Given the description of an element on the screen output the (x, y) to click on. 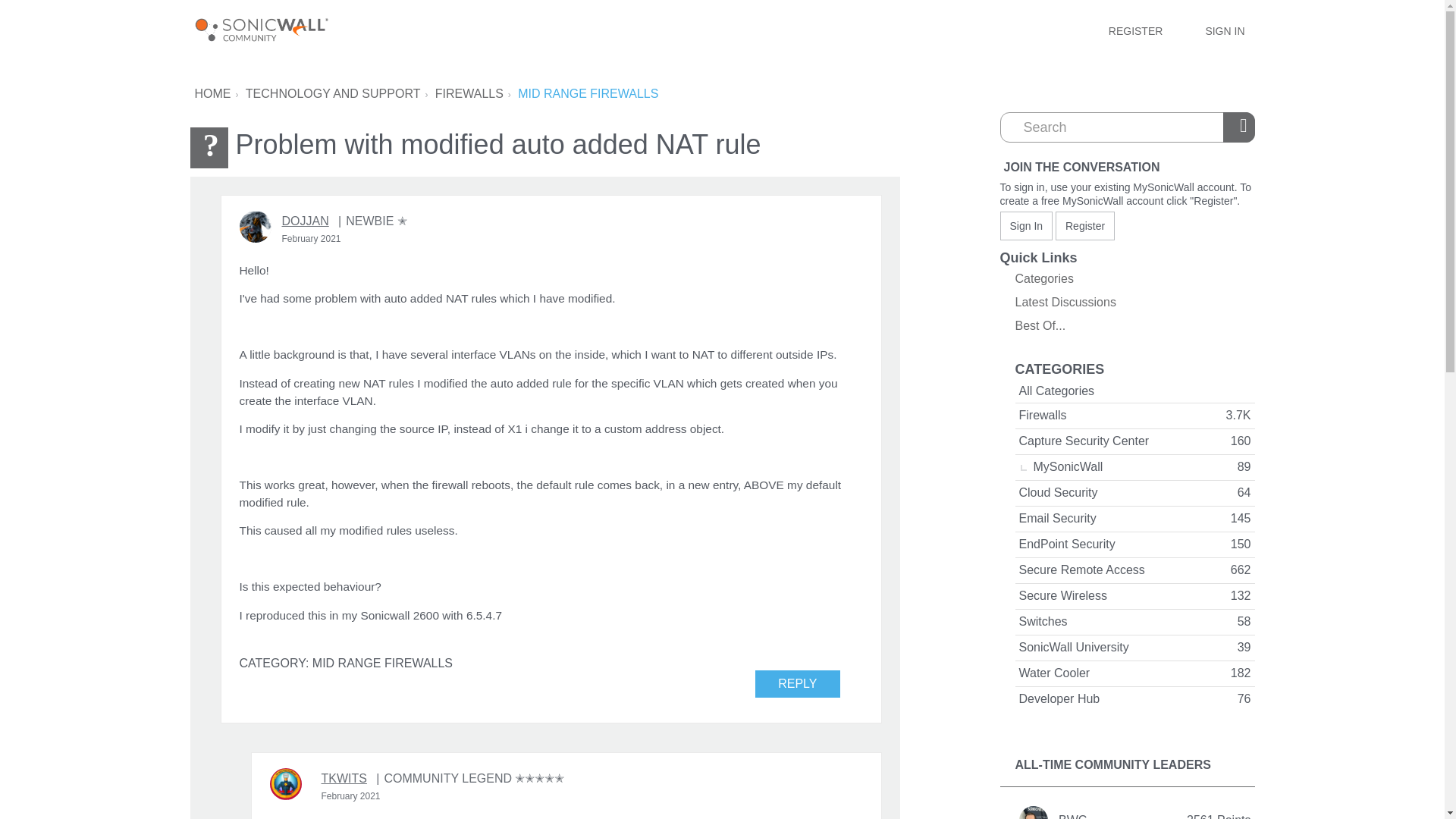
150 discussions (1240, 544)
TKWITS (285, 784)
Go (1240, 127)
662 discussions (1240, 570)
dojjan (255, 226)
REGISTER (1136, 30)
Sign In (1025, 225)
February 22 2021 12:12pm (311, 238)
DOJJAN (305, 221)
SIGN IN (1224, 30)
